Given the description of an element on the screen output the (x, y) to click on. 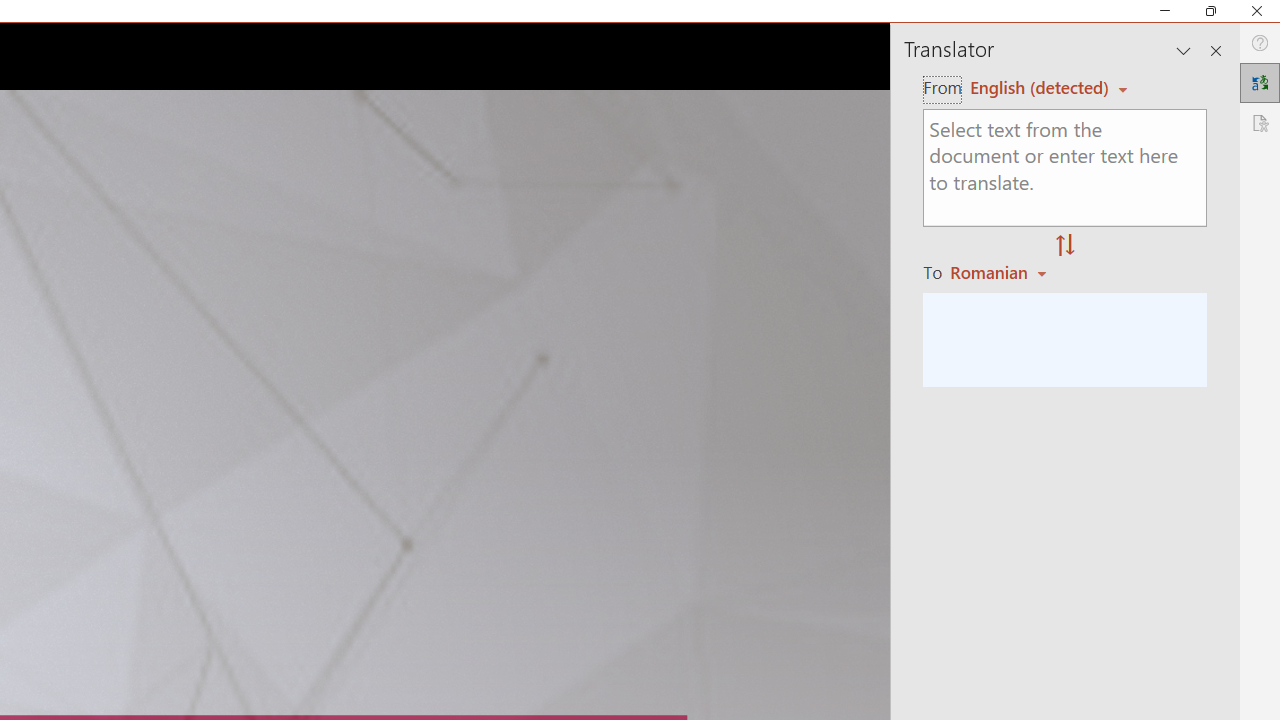
Romanian (1001, 272)
Czech (detected) (1039, 87)
Swap "from" and "to" languages. (1065, 245)
